Given the description of an element on the screen output the (x, y) to click on. 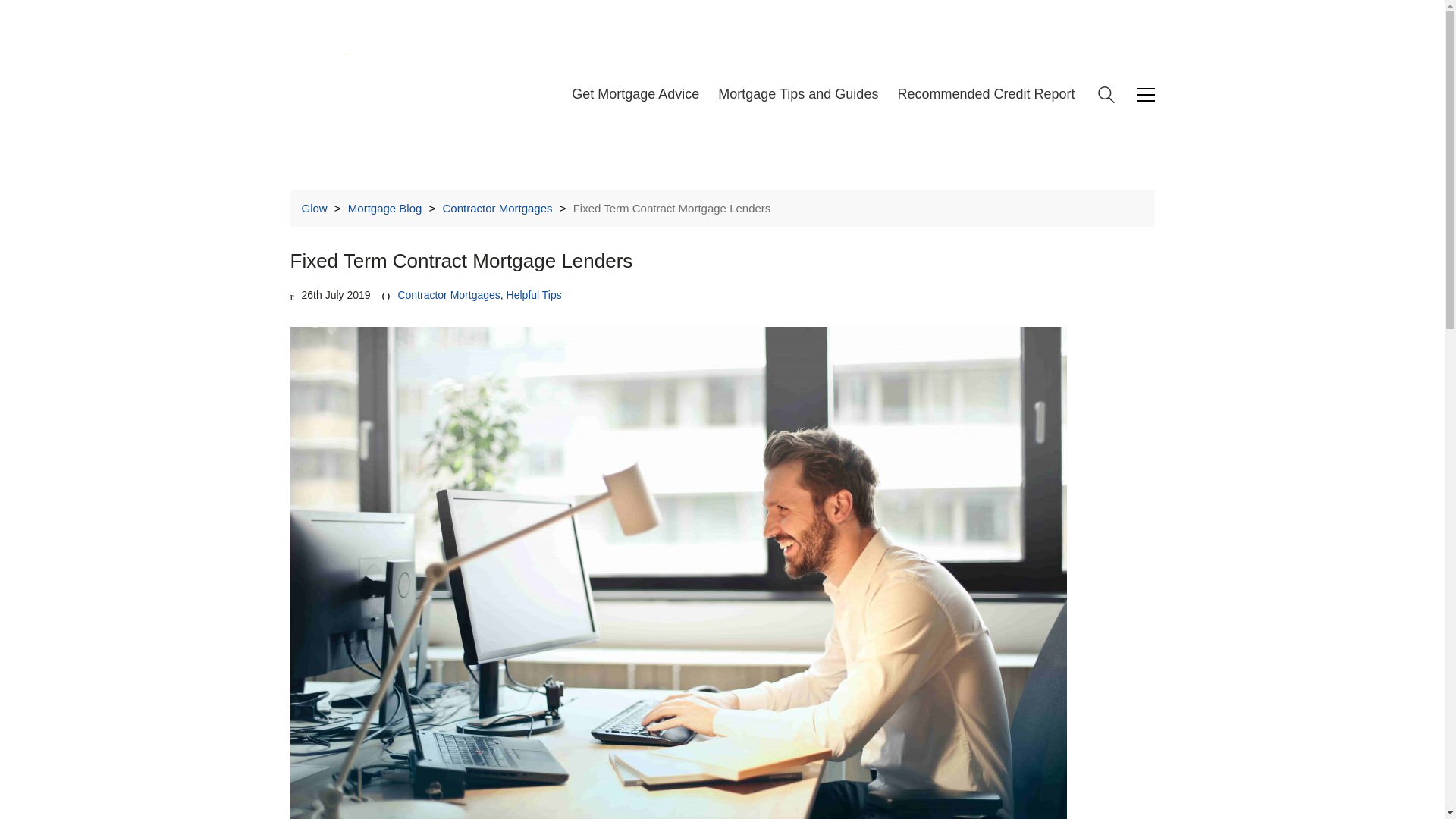
Contractor Mortgages (496, 208)
Recommended Credit Report (985, 94)
Get Mortgage Advice (635, 94)
Go to Glow. (314, 208)
Go to Mortgage Blog. (384, 208)
Go to the Contractor Mortgages Category archives. (496, 208)
Glow (314, 208)
Mortgage Tips and Guides (797, 94)
Contractor Mortgages (448, 295)
Mortgage Blog (384, 208)
